Given the description of an element on the screen output the (x, y) to click on. 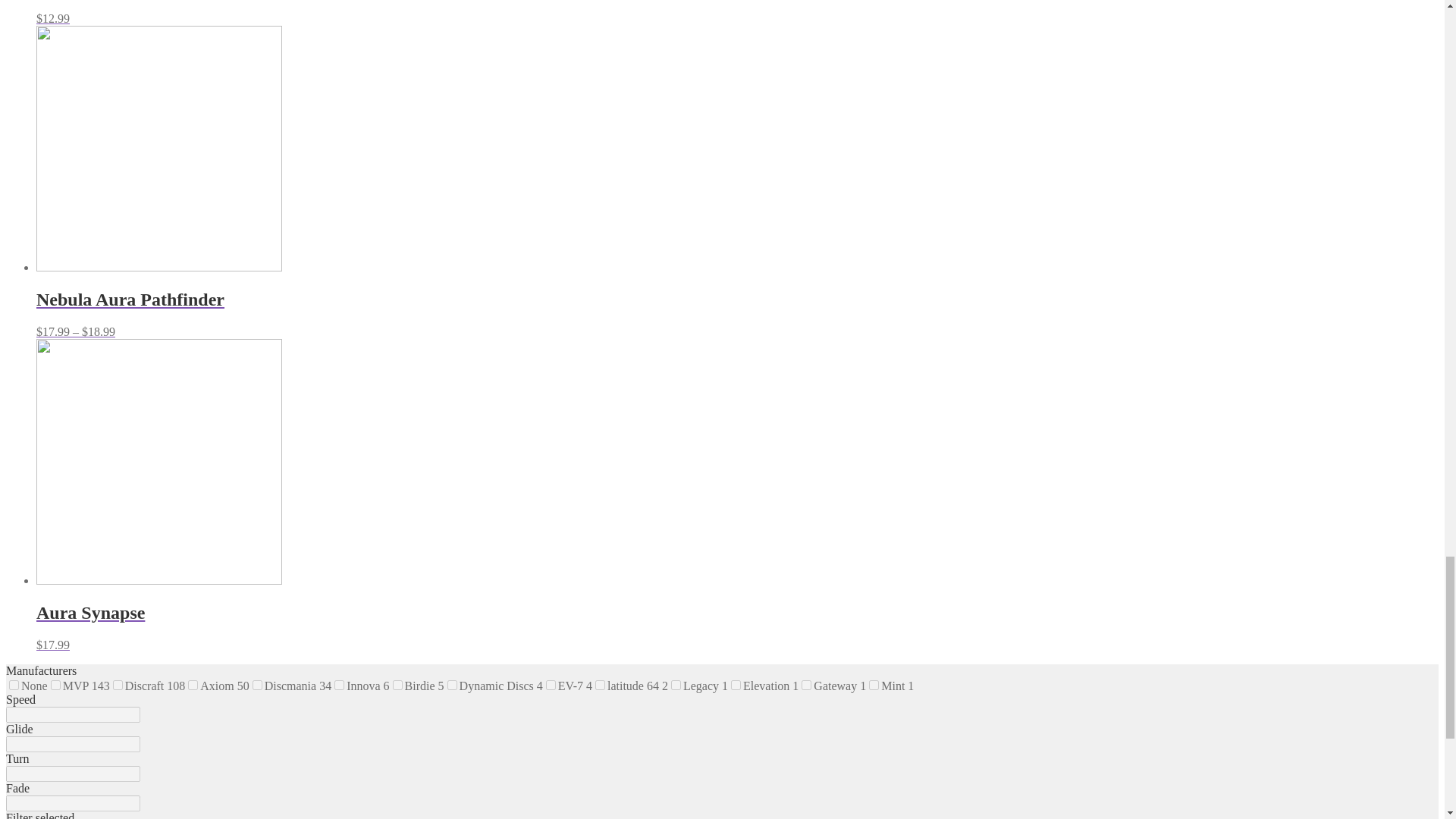
discmania (256, 685)
ev-7 (551, 685)
legacy (676, 685)
elevation (735, 685)
birdie (398, 685)
axiom (192, 685)
latitude-64 (600, 685)
dynamic-discs (451, 685)
discraft (117, 685)
innova (338, 685)
mint (874, 685)
gateway (806, 685)
mvp (55, 685)
